Given the description of an element on the screen output the (x, y) to click on. 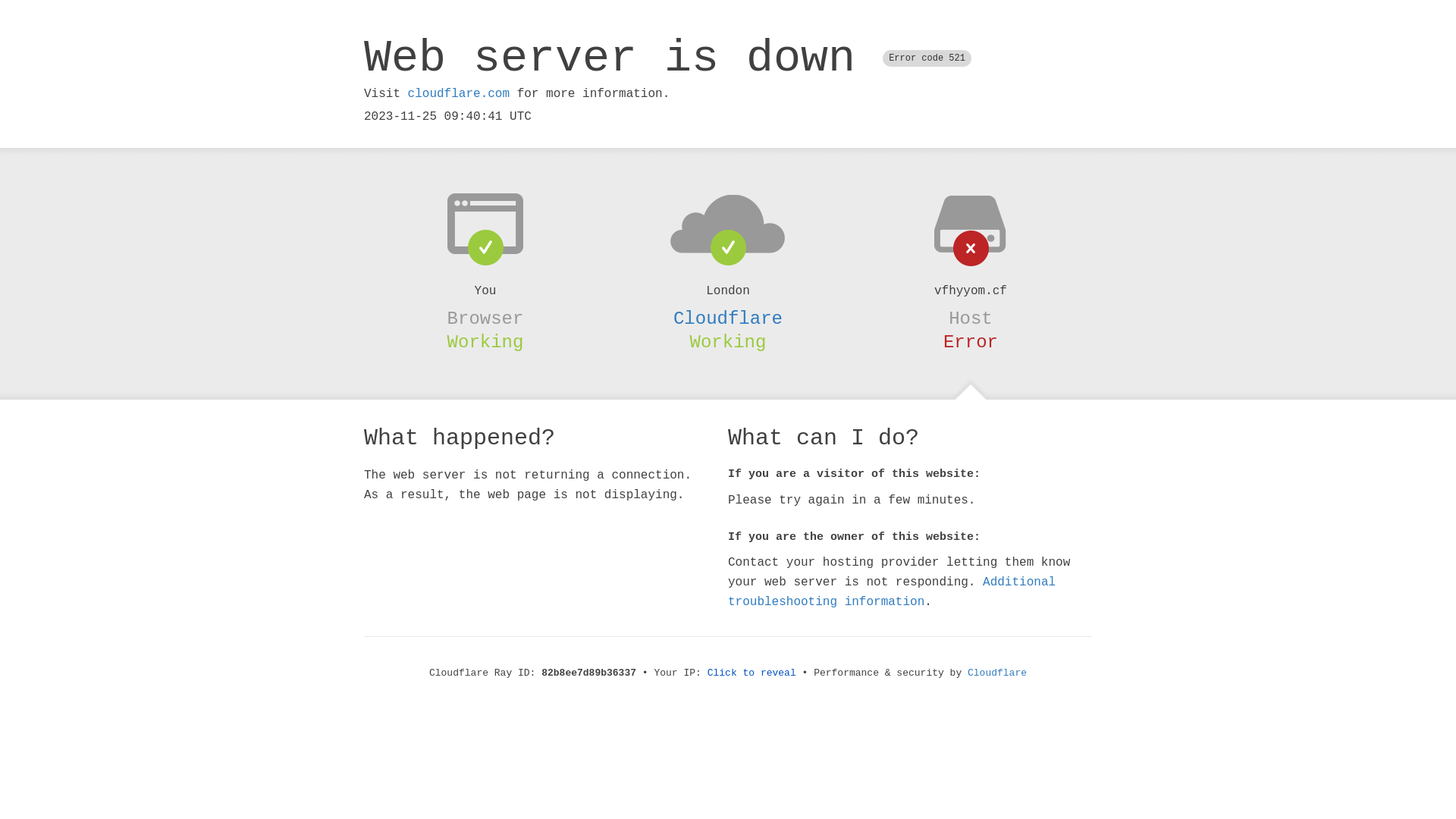
Cloudflare Element type: text (996, 672)
Click to reveal Element type: text (751, 672)
Additional troubleshooting information Element type: text (891, 591)
cloudflare.com Element type: text (458, 93)
Cloudflare Element type: text (727, 318)
